Given the description of an element on the screen output the (x, y) to click on. 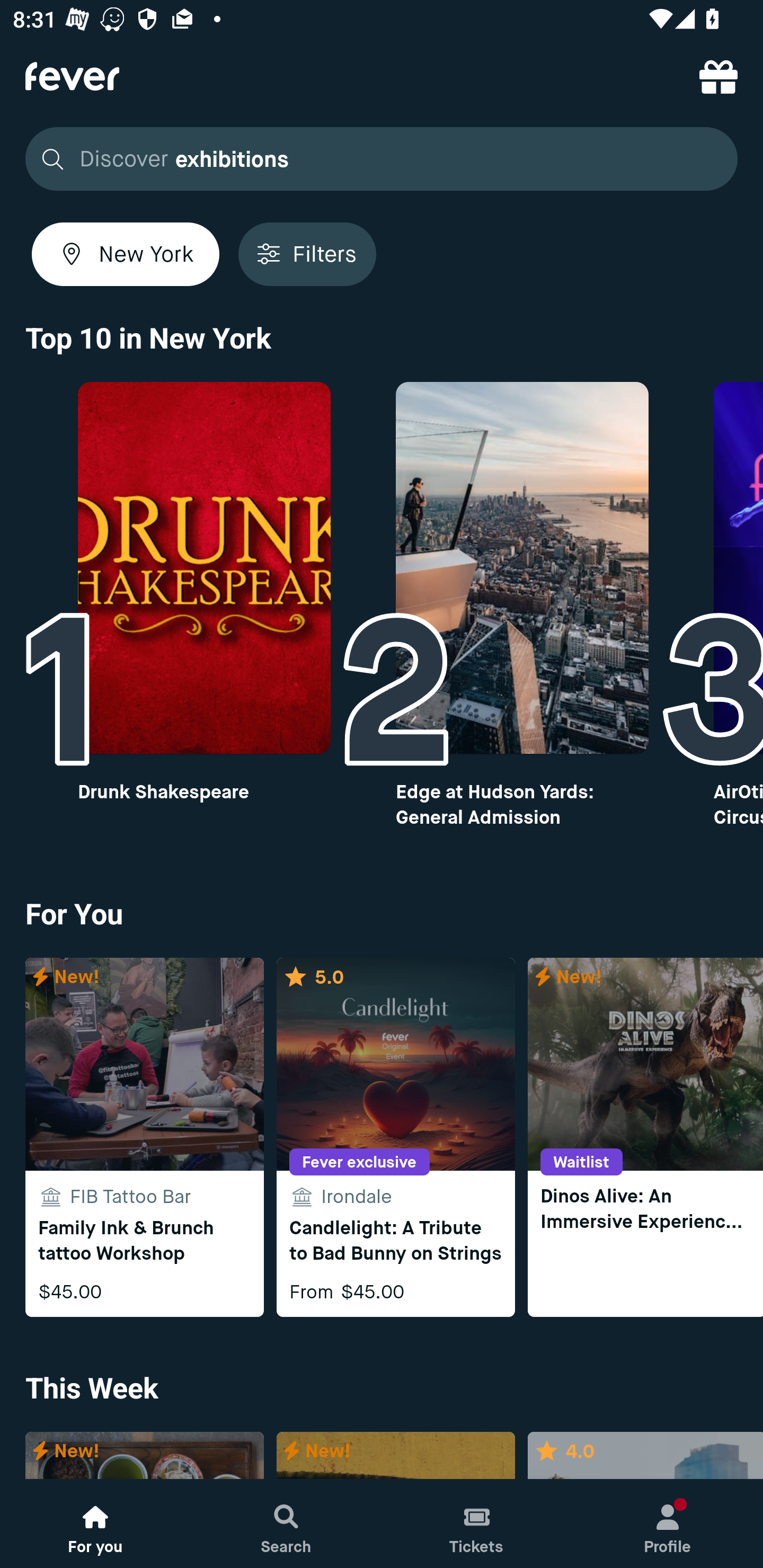
referral (718, 75)
Discover exhibitions (381, 158)
Discover exhibitions (376, 158)
New York (125, 253)
Filters (307, 253)
Top10 image (203, 568)
Top10 image (521, 568)
Search (285, 1523)
Tickets (476, 1523)
Profile, New notification Profile (667, 1523)
